Given the description of an element on the screen output the (x, y) to click on. 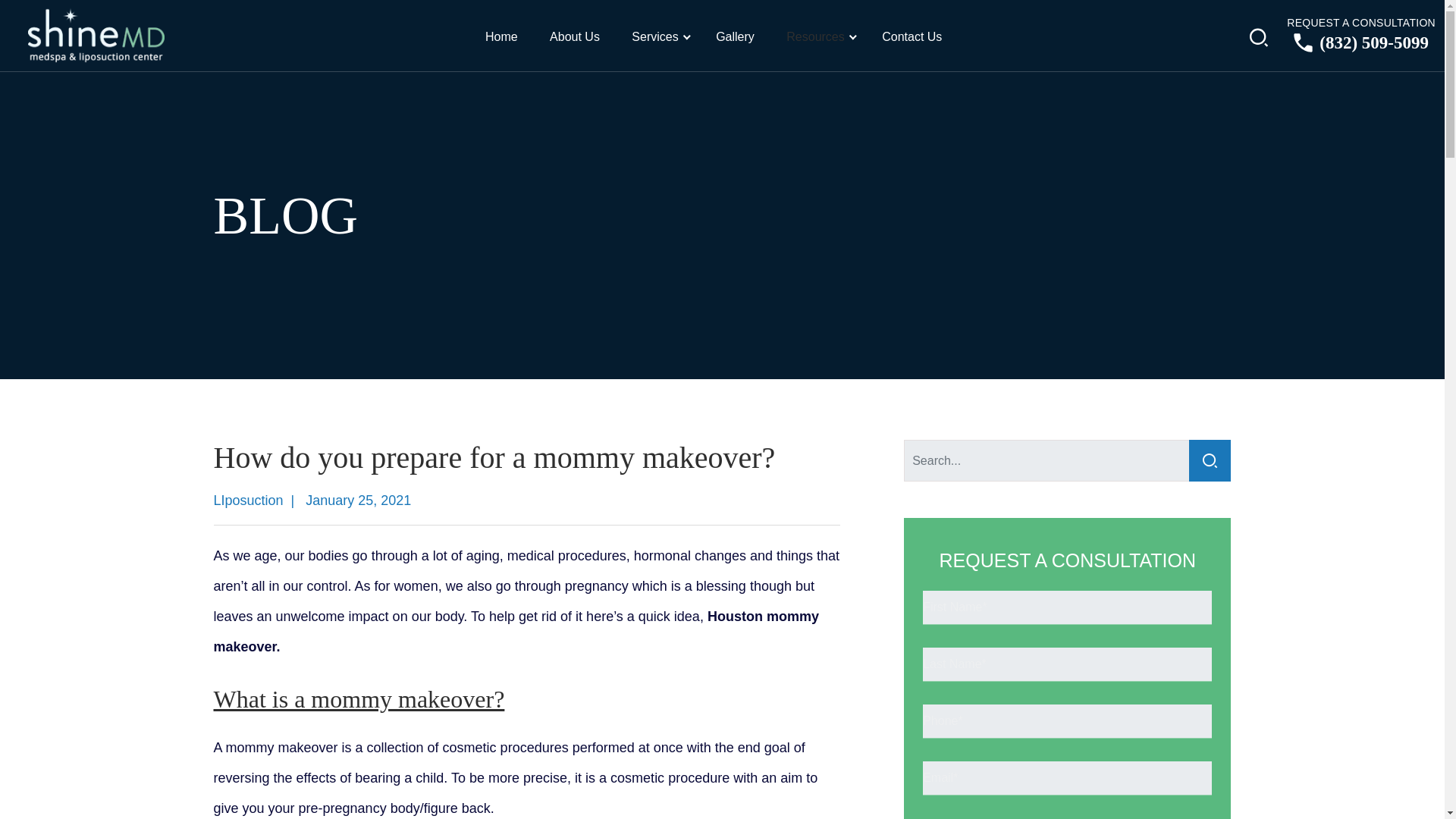
Contact Us (918, 37)
Gallery (742, 37)
About Us (581, 37)
Home (507, 37)
Services (661, 37)
Resources (821, 37)
